Given the description of an element on the screen output the (x, y) to click on. 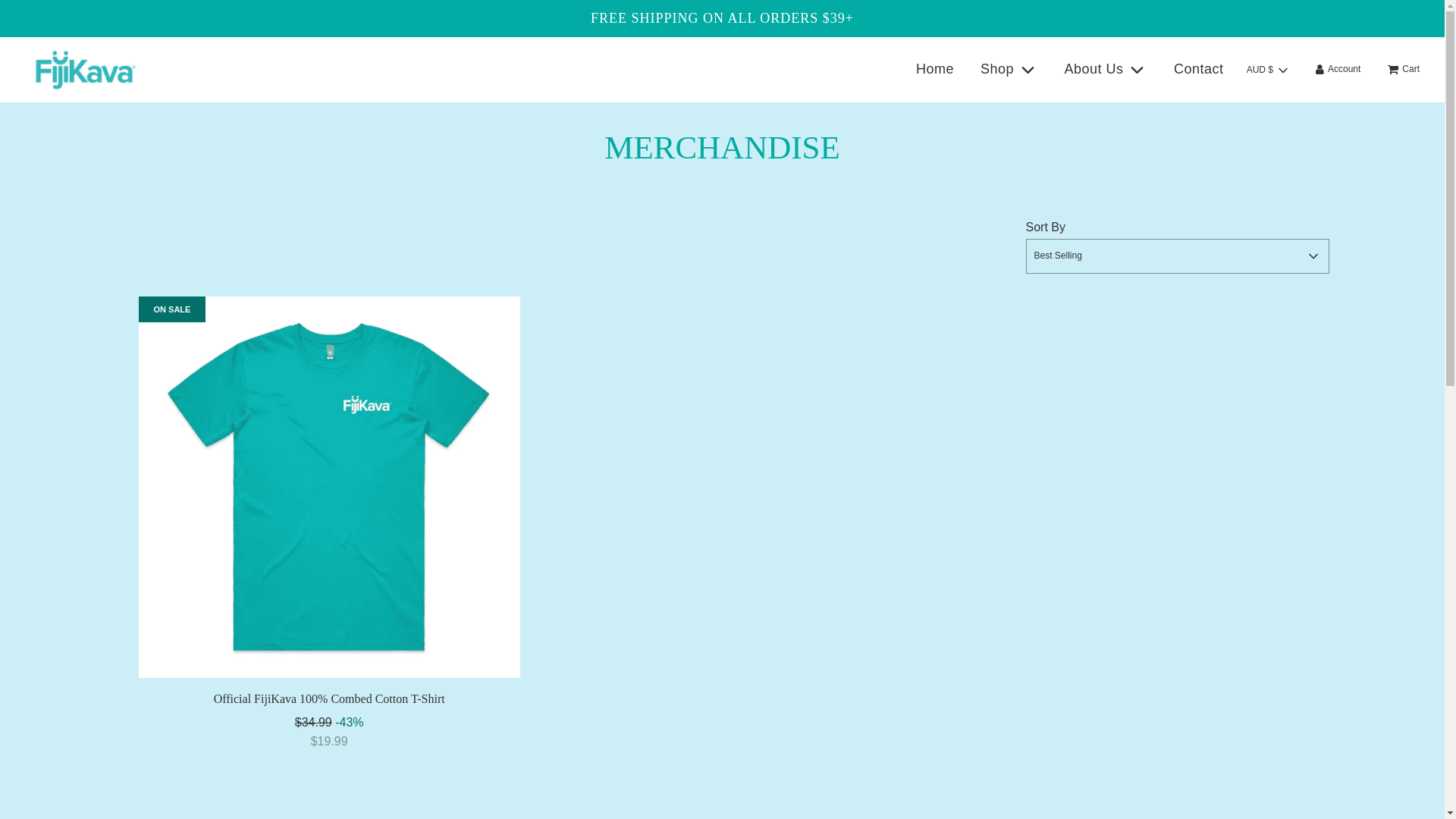
About Us (1105, 68)
Cart (1403, 69)
Shop (1009, 68)
Home (934, 68)
Log in (1337, 69)
Account (1337, 69)
Contact (1197, 68)
